Given the description of an element on the screen output the (x, y) to click on. 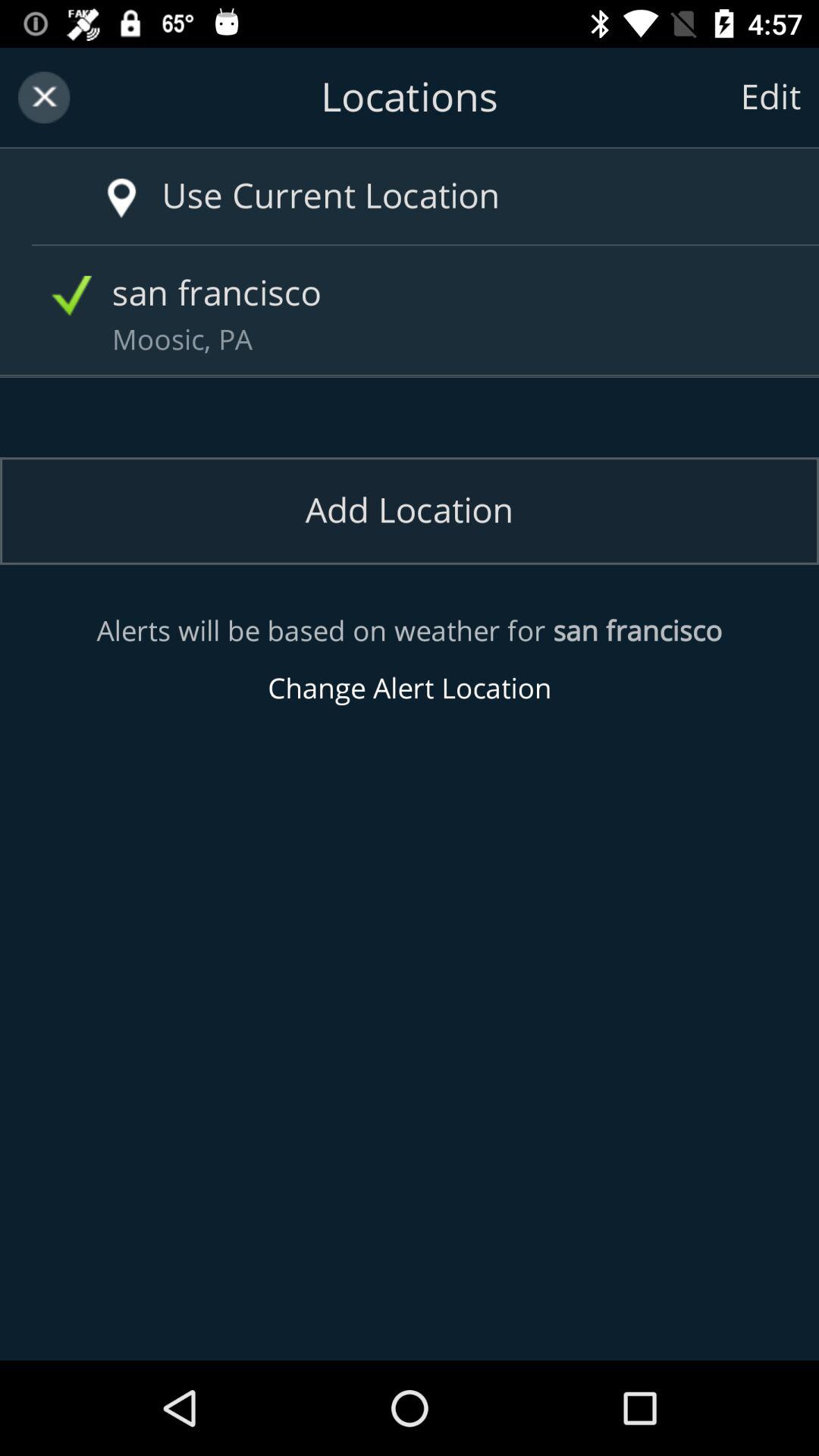
flip to alerts will be (409, 659)
